Given the description of an element on the screen output the (x, y) to click on. 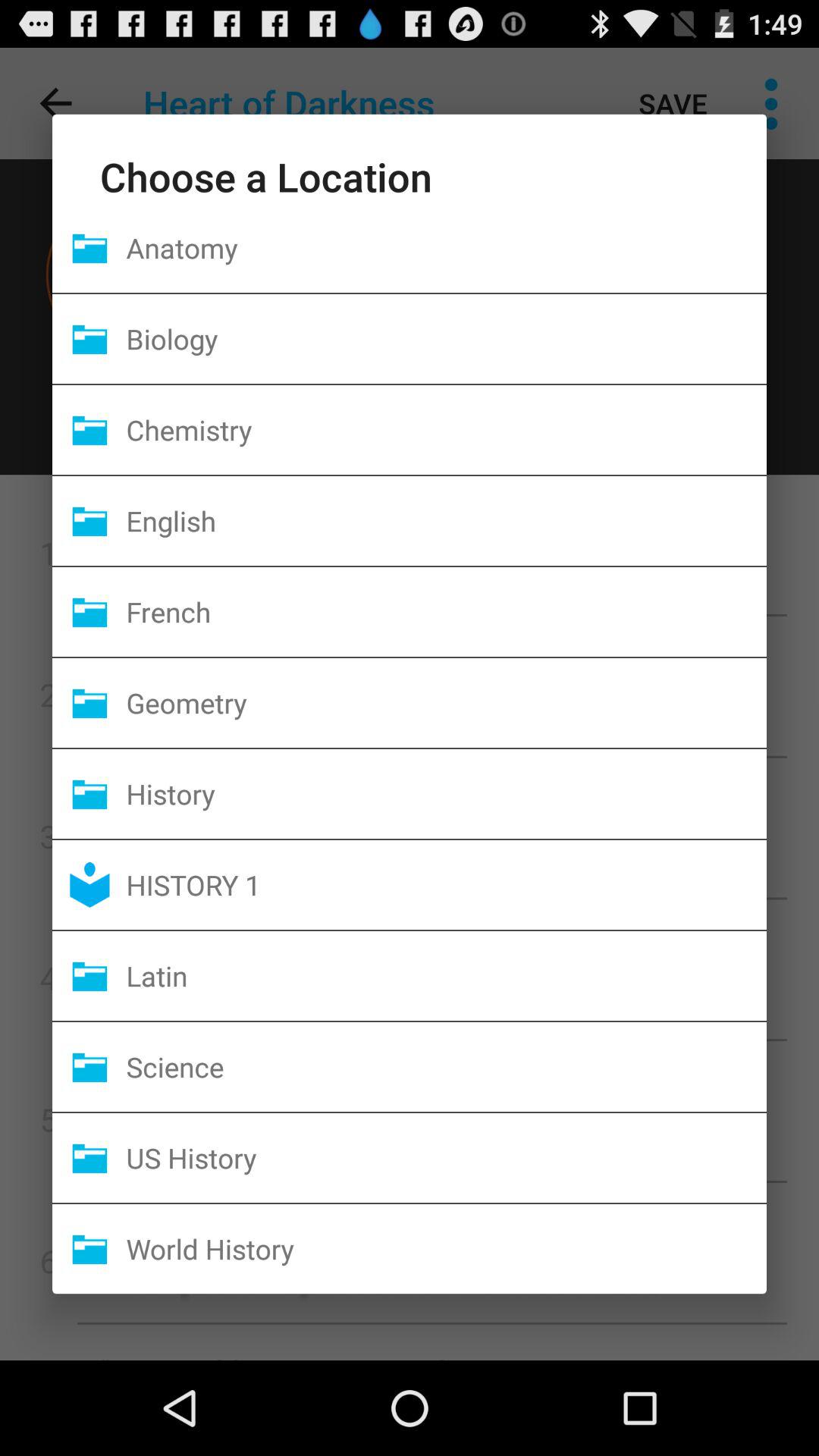
flip to the science item (446, 1066)
